Given the description of an element on the screen output the (x, y) to click on. 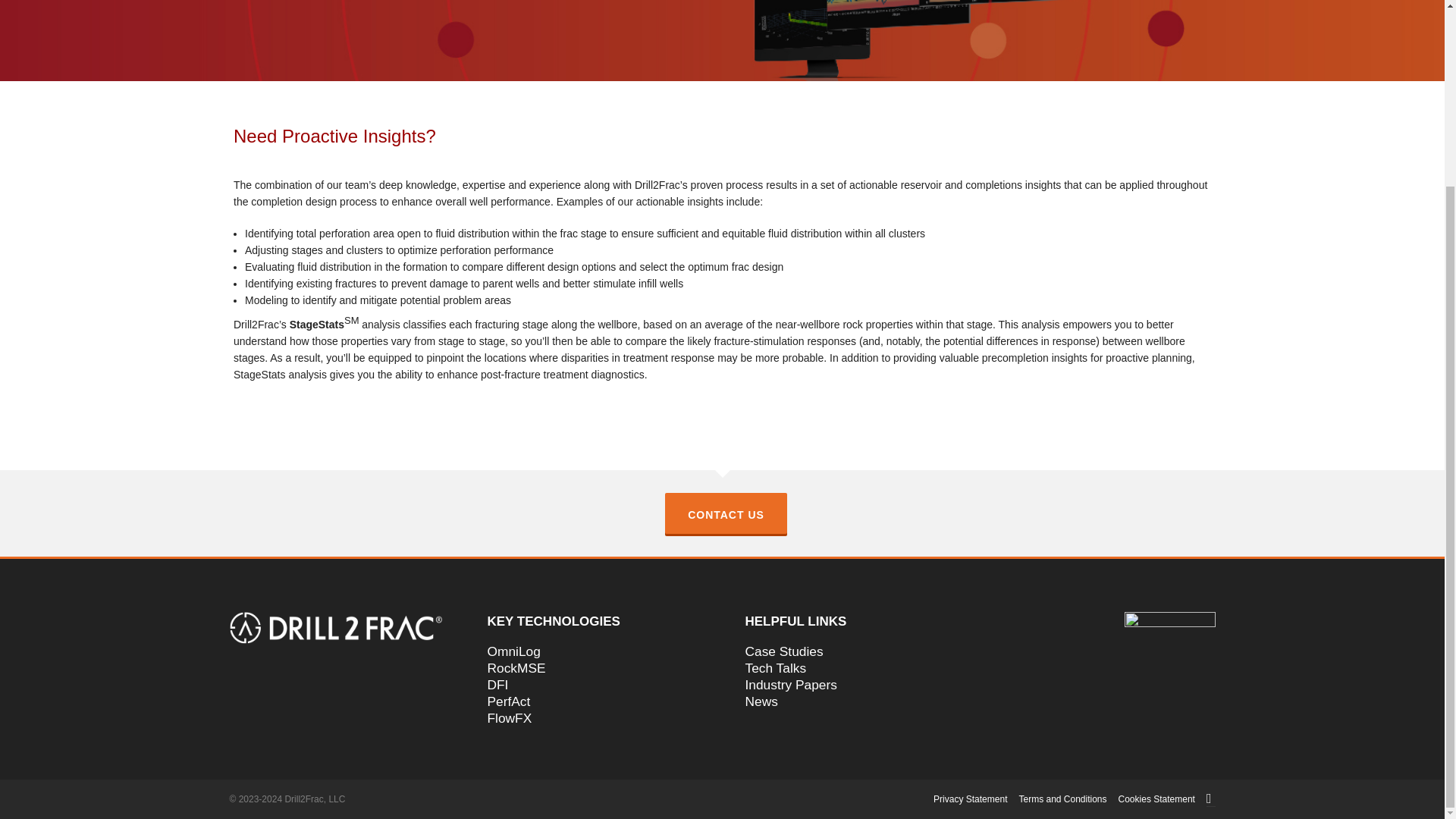
Case Studies and Industry Papers (850, 651)
News and Upcoming Events (850, 701)
PerfAct (592, 701)
CONTACT US (726, 513)
Tech Talks (850, 668)
OmniLog (592, 651)
Case Studies (850, 651)
Case Studies and Industry Papers (850, 684)
Tech Talks (850, 668)
DFI (592, 684)
FlowFX (592, 718)
RockMSE (592, 668)
